Given the description of an element on the screen output the (x, y) to click on. 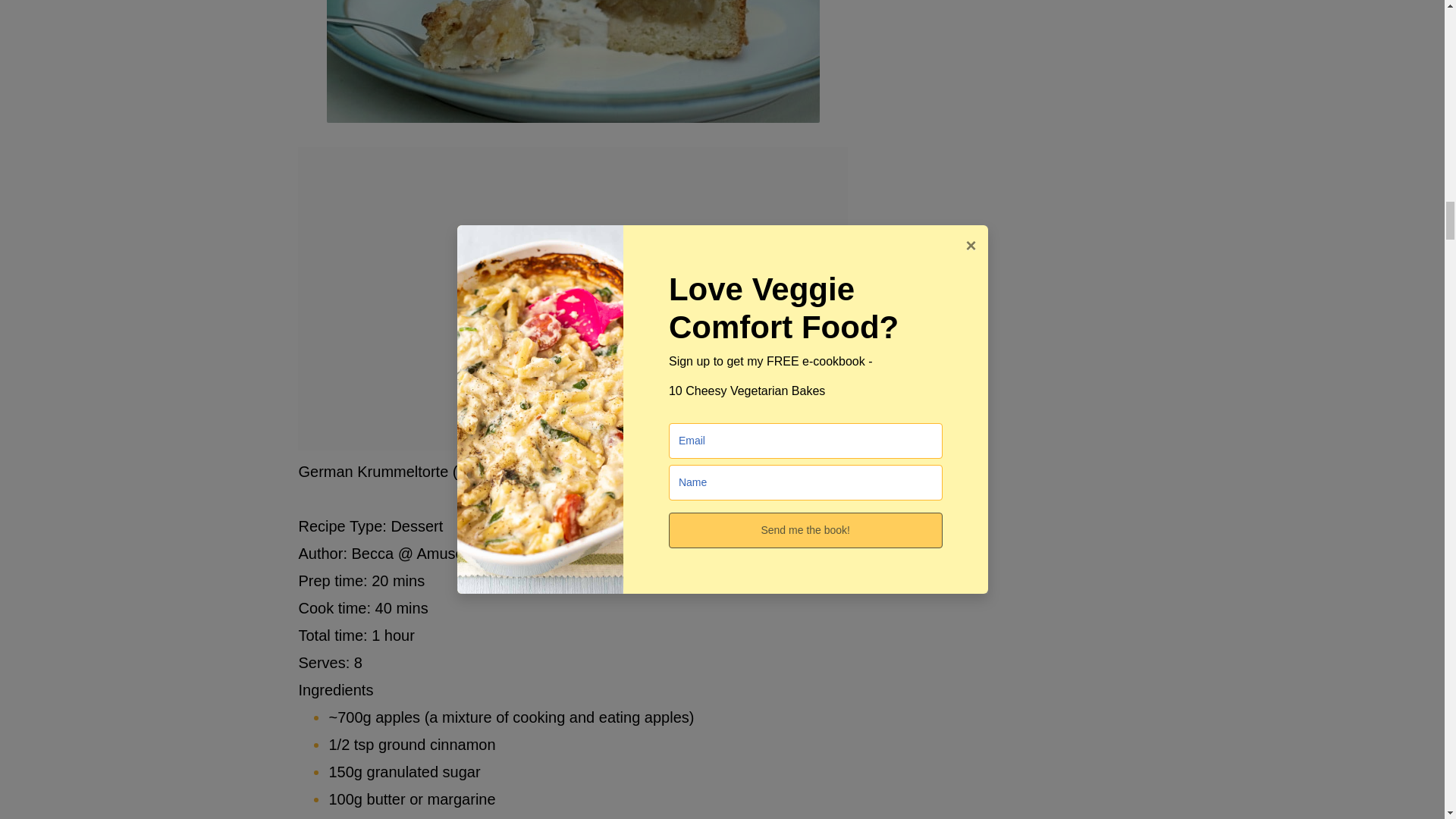
Apple crumble cake (572, 61)
